Given the description of an element on the screen output the (x, y) to click on. 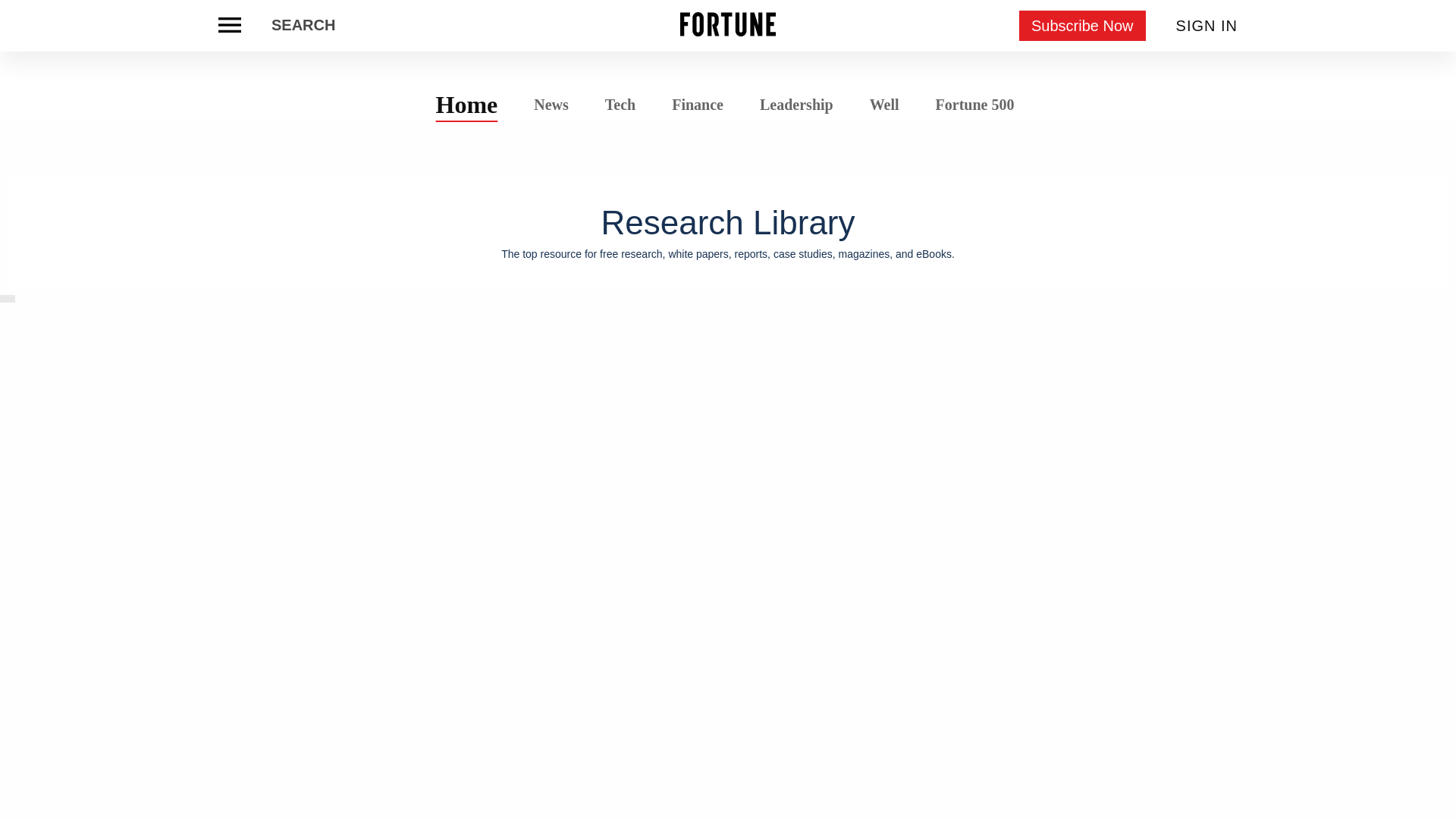
Home (466, 103)
Tech (619, 104)
SIGN IN (1206, 25)
SEARCH (302, 25)
News (550, 103)
Subscribe Now (1082, 25)
Well (884, 104)
Fortune 500 (974, 103)
Finance (697, 104)
Leadership (796, 104)
